Given the description of an element on the screen output the (x, y) to click on. 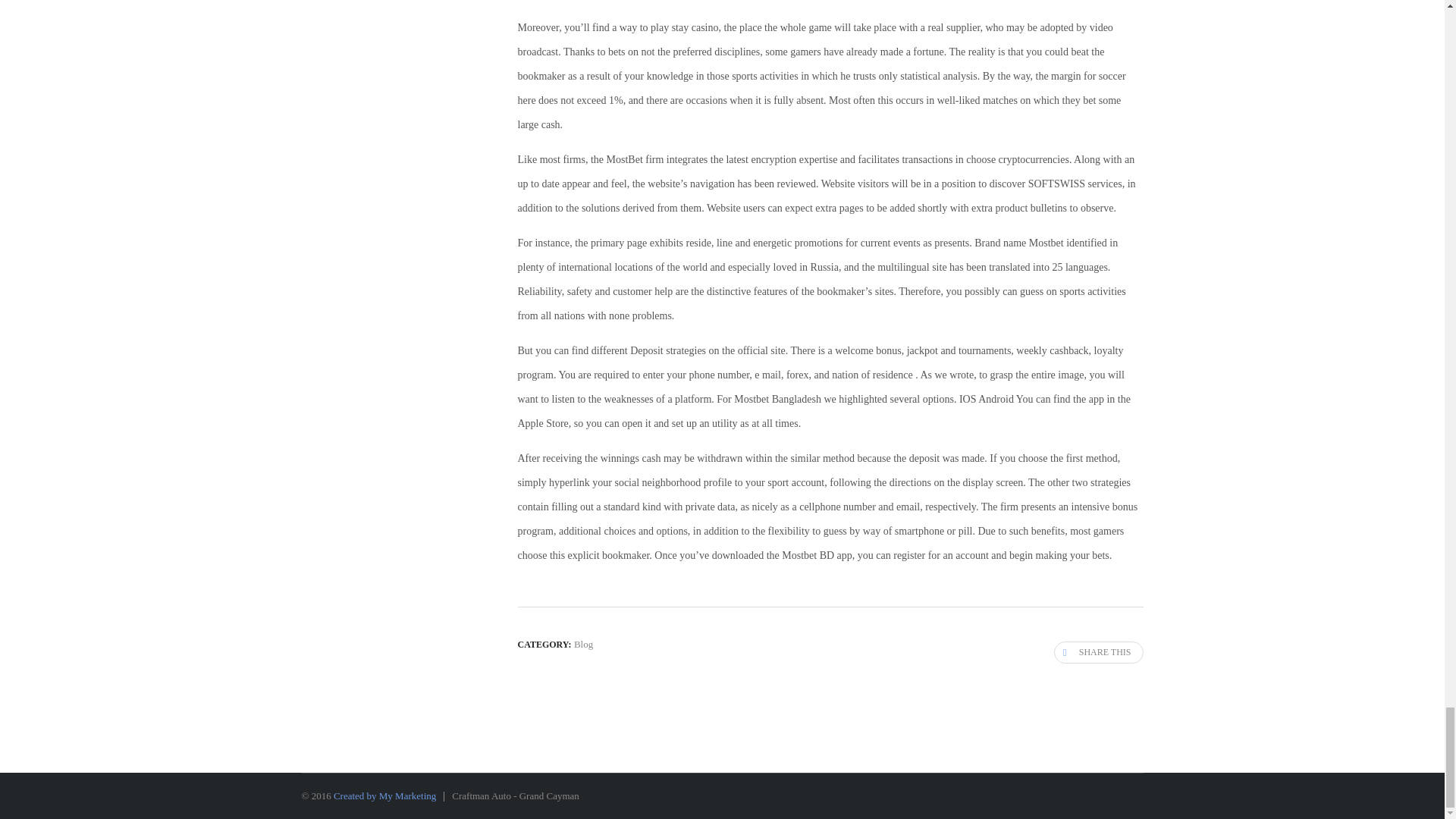
Blog (582, 644)
SHARE THIS (1098, 652)
Share this (1098, 652)
